Given the description of an element on the screen output the (x, y) to click on. 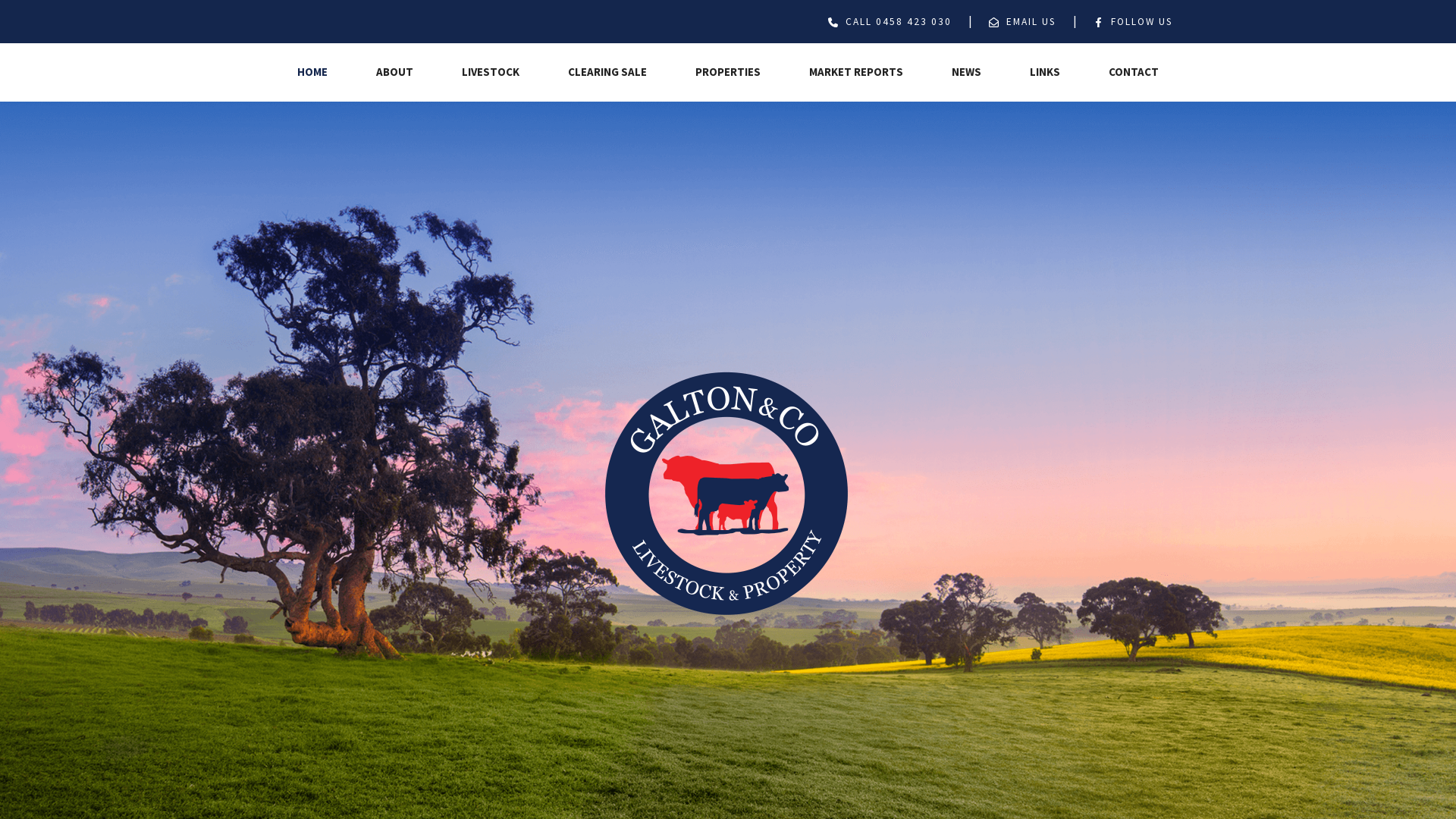
LINKS Element type: text (1044, 72)
ABOUT Element type: text (394, 72)
LIVESTOCK Element type: text (490, 72)
CLEARING SALE Element type: text (607, 72)
CONTACT Element type: text (1133, 72)
MARKET REPORTS Element type: text (855, 72)
HOME Element type: text (312, 72)
 FOLLOW US Element type: text (1140, 20)
NEWS Element type: text (966, 72)
 CALL 0458 423 030 Element type: text (896, 20)
PROPERTIES Element type: text (727, 72)
 EMAIL US Element type: text (1029, 20)
